Given the description of an element on the screen output the (x, y) to click on. 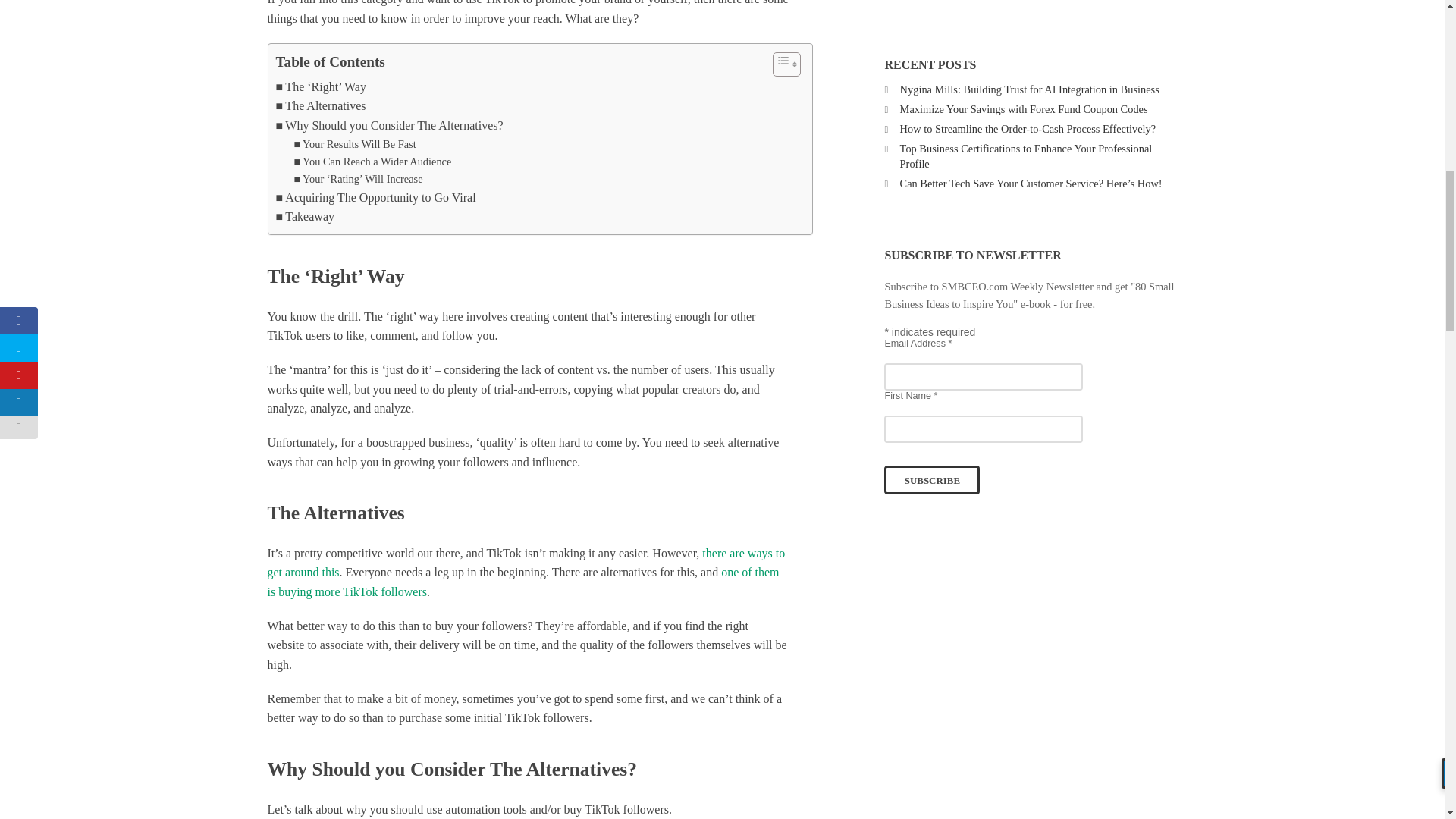
You Can Reach a Wider Audience (372, 161)
Takeaway (305, 216)
Your Results Will Be Fast (355, 144)
there are ways to get around this (525, 563)
Your Results Will Be Fast (355, 144)
Why Should you Consider The Alternatives? (389, 125)
Why Should you Consider The Alternatives? (389, 125)
Takeaway (305, 216)
Acquiring The Opportunity to Go Viral (376, 198)
Subscribe (931, 480)
The Alternatives (321, 106)
You Can Reach a Wider Audience (372, 161)
Acquiring The Opportunity to Go Viral (376, 198)
one of them is buying more TikTok followers (522, 581)
The Alternatives (321, 106)
